Given the description of an element on the screen output the (x, y) to click on. 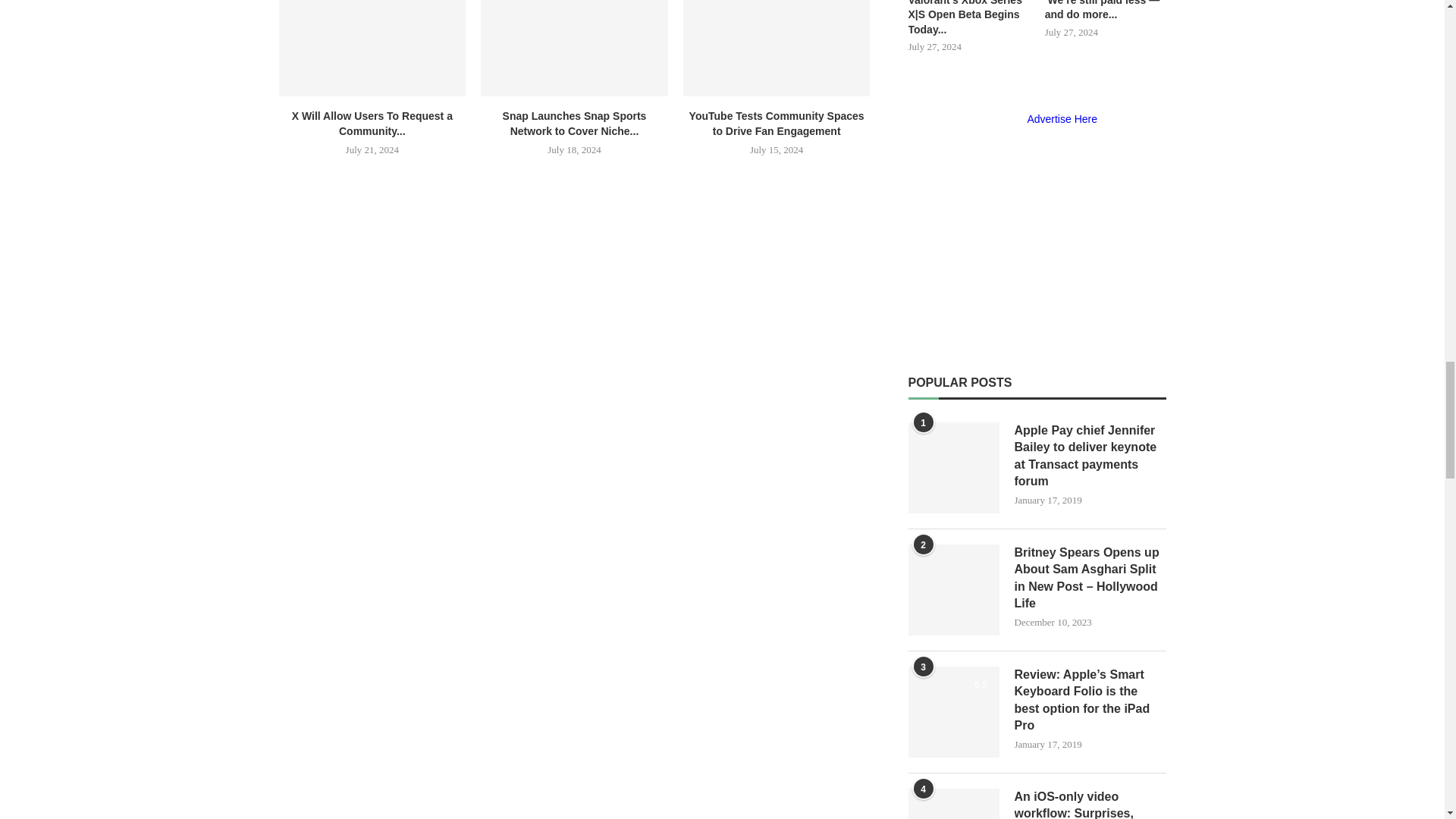
Snap Launches Snap Sports Network to Cover Niche Events (574, 48)
X Will Allow Users To Request a Community Note on Posts (372, 48)
YouTube Tests Community Spaces to Drive Fan Engagement (776, 48)
